Given the description of an element on the screen output the (x, y) to click on. 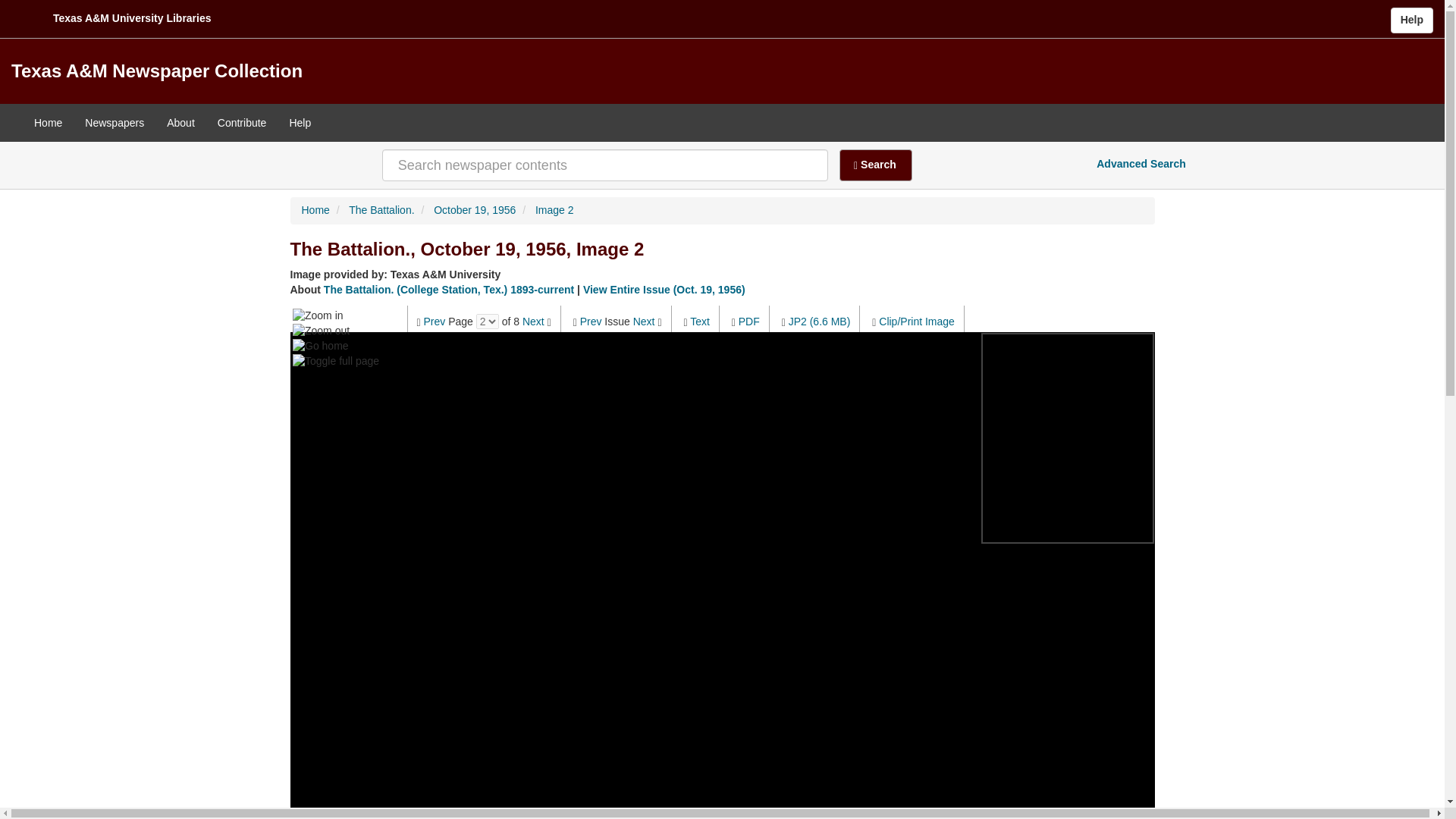
Toggle full page (335, 361)
Contribute (242, 122)
Prev (434, 321)
Newspapers (114, 122)
About (180, 122)
The Battalion. (381, 209)
PDF (749, 321)
Go home (320, 346)
Prev (590, 321)
Help (299, 122)
